Given the description of an element on the screen output the (x, y) to click on. 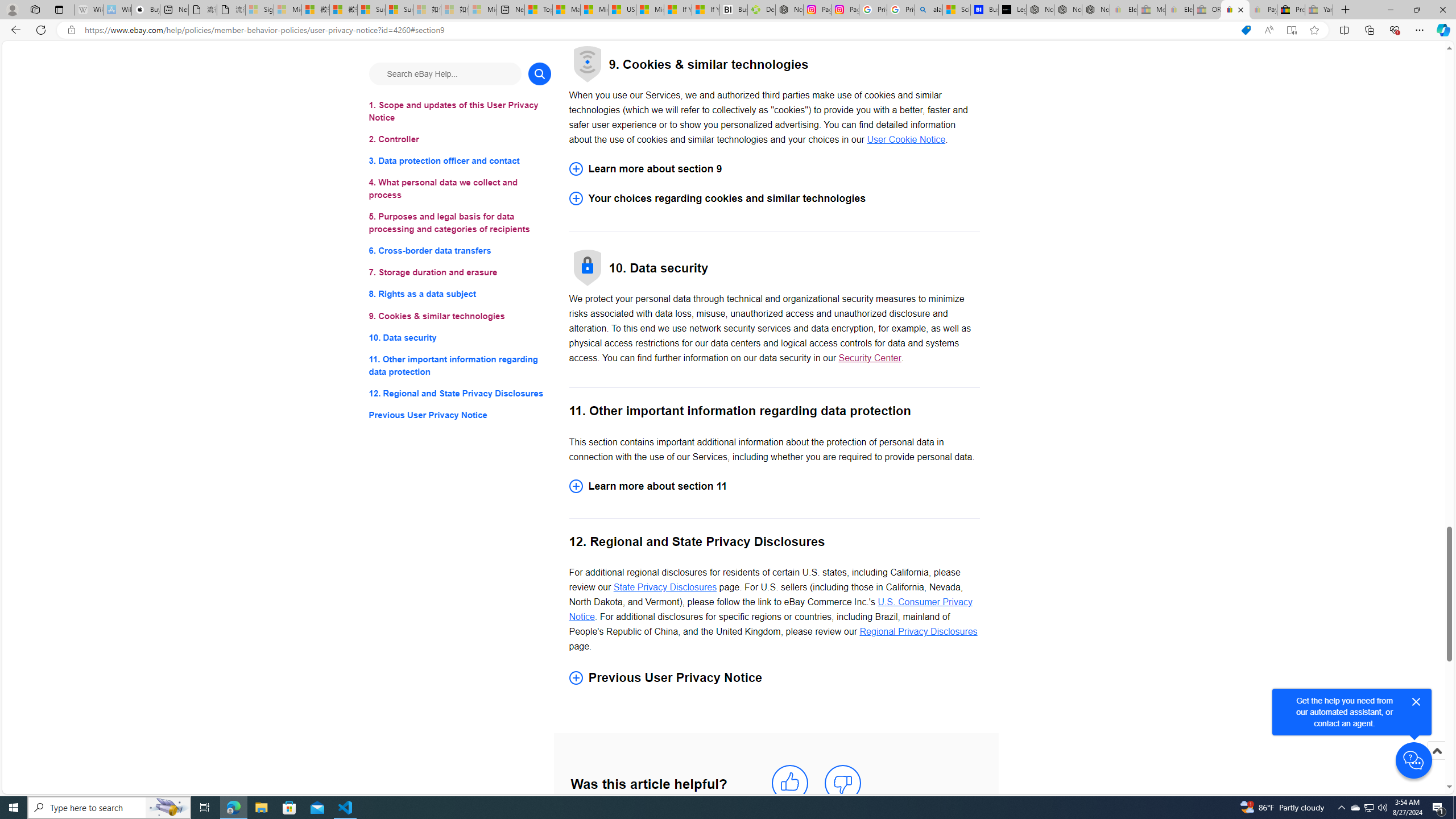
4. What personal data we collect and process (459, 189)
6. Cross-border data transfers (459, 250)
Previous User Privacy Notice (774, 677)
2. Controller (459, 138)
8. Rights as a data subject (459, 293)
